Given the description of an element on the screen output the (x, y) to click on. 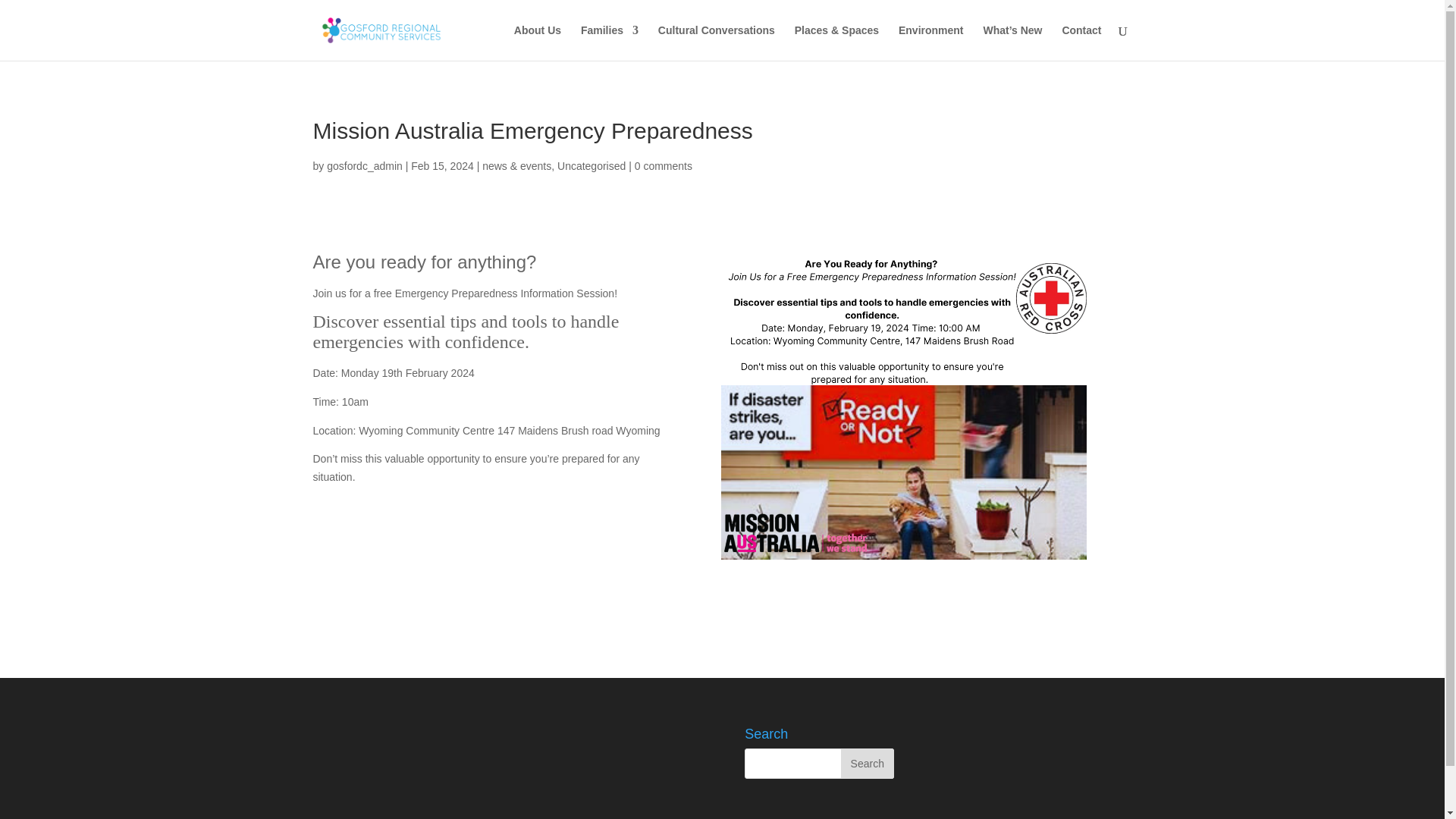
Cultural Conversations (716, 42)
Uncategorised (591, 165)
Contact (1080, 42)
Search (867, 763)
Emergency-Prepardness-Promo (903, 406)
Families (609, 42)
About Us (536, 42)
Environment (930, 42)
0 comments (663, 165)
Search (867, 763)
